Given the description of an element on the screen output the (x, y) to click on. 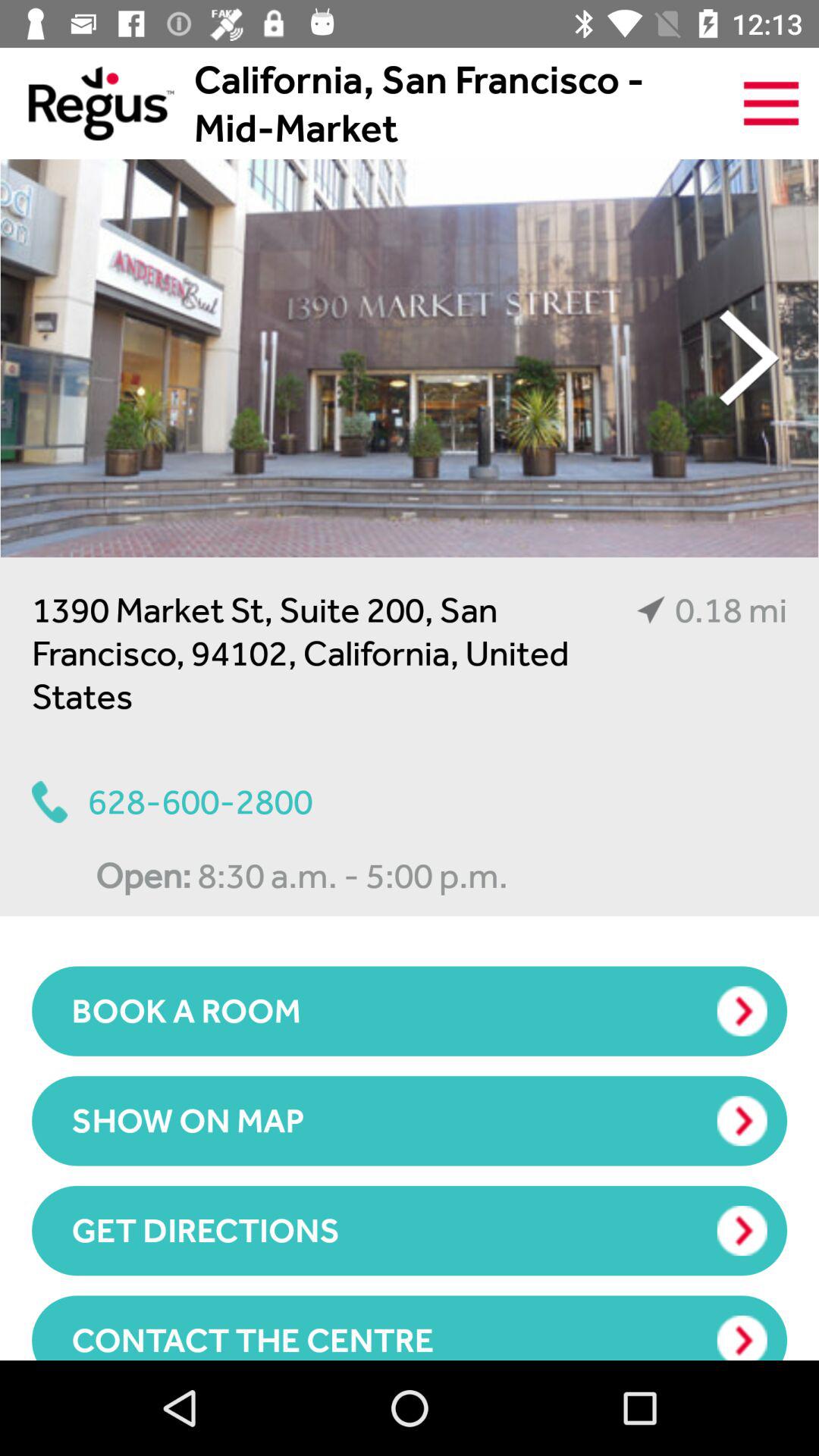
press the item next to california san francisco (87, 103)
